Given the description of an element on the screen output the (x, y) to click on. 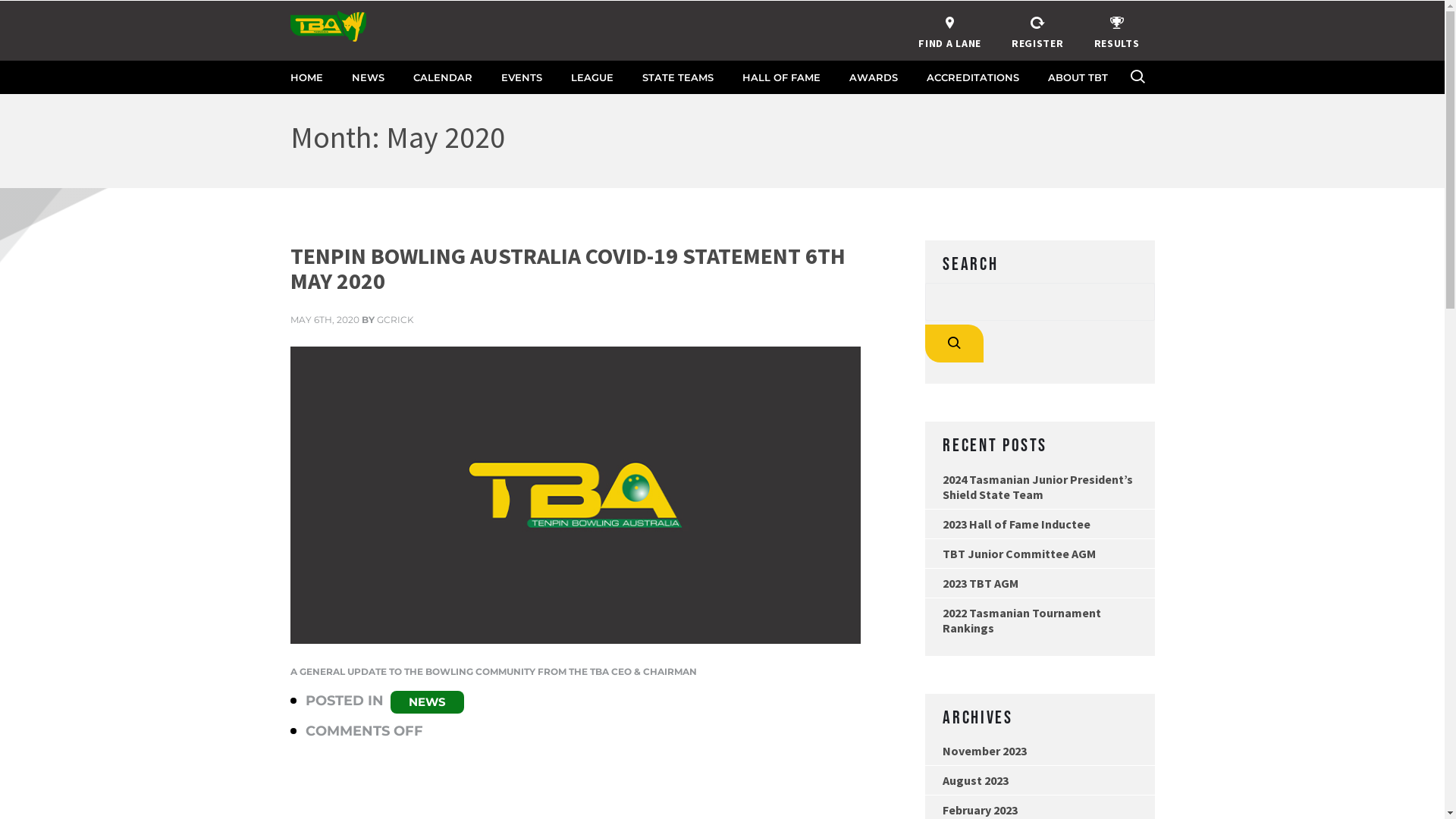
2023 Hall of Fame Inductee Element type: text (1039, 523)
November 2023 Element type: text (1039, 750)
CALENDAR Element type: text (441, 77)
RESULTS Element type: text (1116, 30)
AWARDS Element type: text (873, 77)
LEAGUE Element type: text (591, 77)
REGISTER Element type: text (1037, 30)
FIND A LANE Element type: text (949, 30)
NEWS Element type: text (426, 701)
ACCREDITATIONS Element type: text (972, 77)
HALL OF FAME Element type: text (780, 77)
2022 Tasmanian Tournament Rankings Element type: text (1039, 620)
TBT Junior Committee AGM Element type: text (1039, 553)
GCRICK Element type: text (394, 319)
August 2023 Element type: text (1039, 779)
EVENTS Element type: text (520, 77)
STATE TEAMS Element type: text (676, 77)
TENPIN BOWLING AUSTRALIA COVID-19 STATEMENT 6TH MAY 2020 Element type: text (574, 268)
MAY 6TH, 2020 Element type: text (323, 319)
NEWS Element type: text (367, 77)
HOME Element type: text (305, 77)
ABOUT TBT Element type: text (1077, 77)
2023 TBT AGM Element type: text (1039, 582)
